Given the description of an element on the screen output the (x, y) to click on. 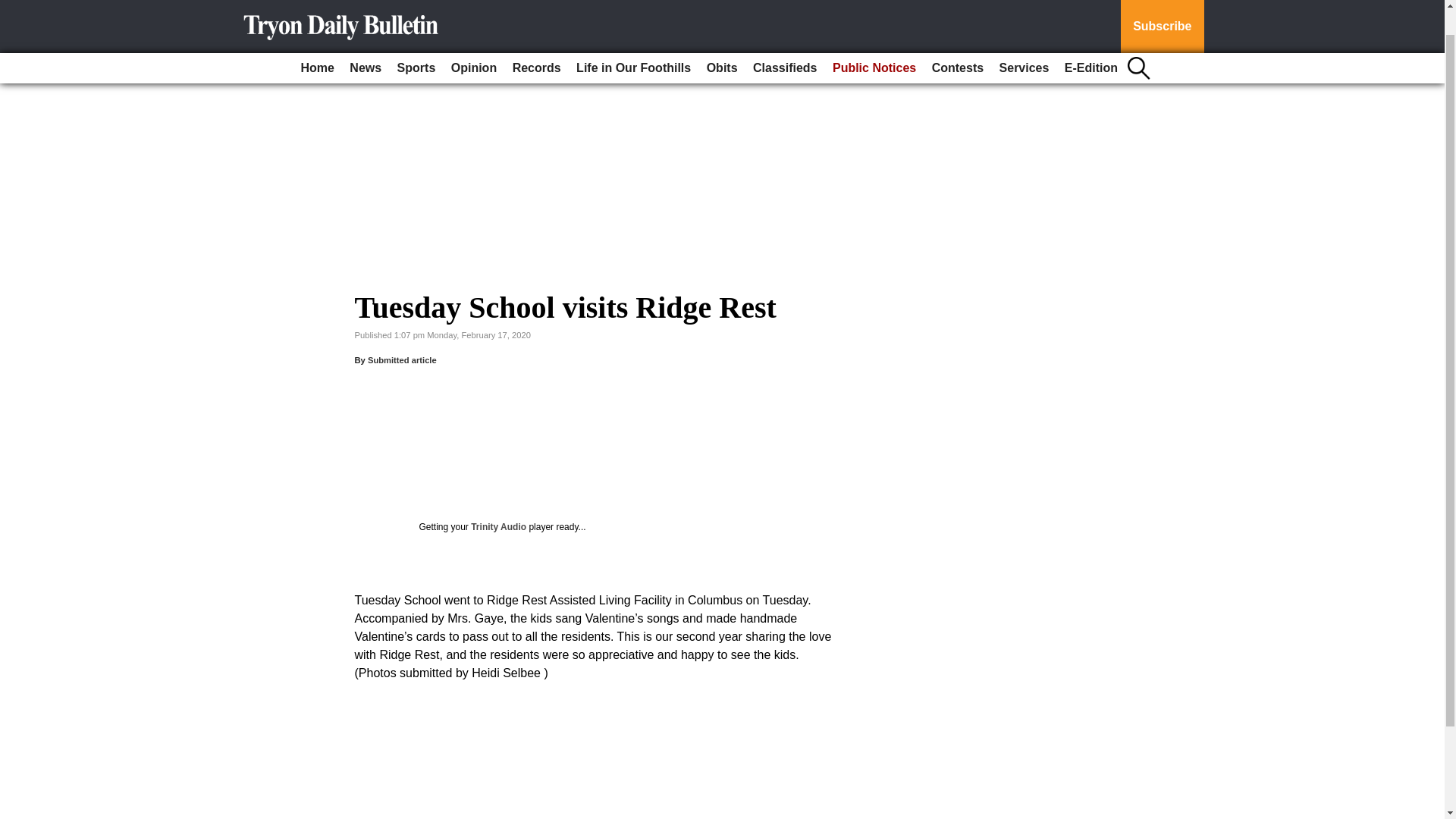
Subscribe (1162, 12)
Public Notices (874, 40)
E-Edition (1091, 40)
Trinity Audio (497, 526)
Contests (958, 40)
Home (316, 40)
Obits (722, 40)
Sports (416, 40)
News (365, 40)
Opinion (473, 40)
